Given the description of an element on the screen output the (x, y) to click on. 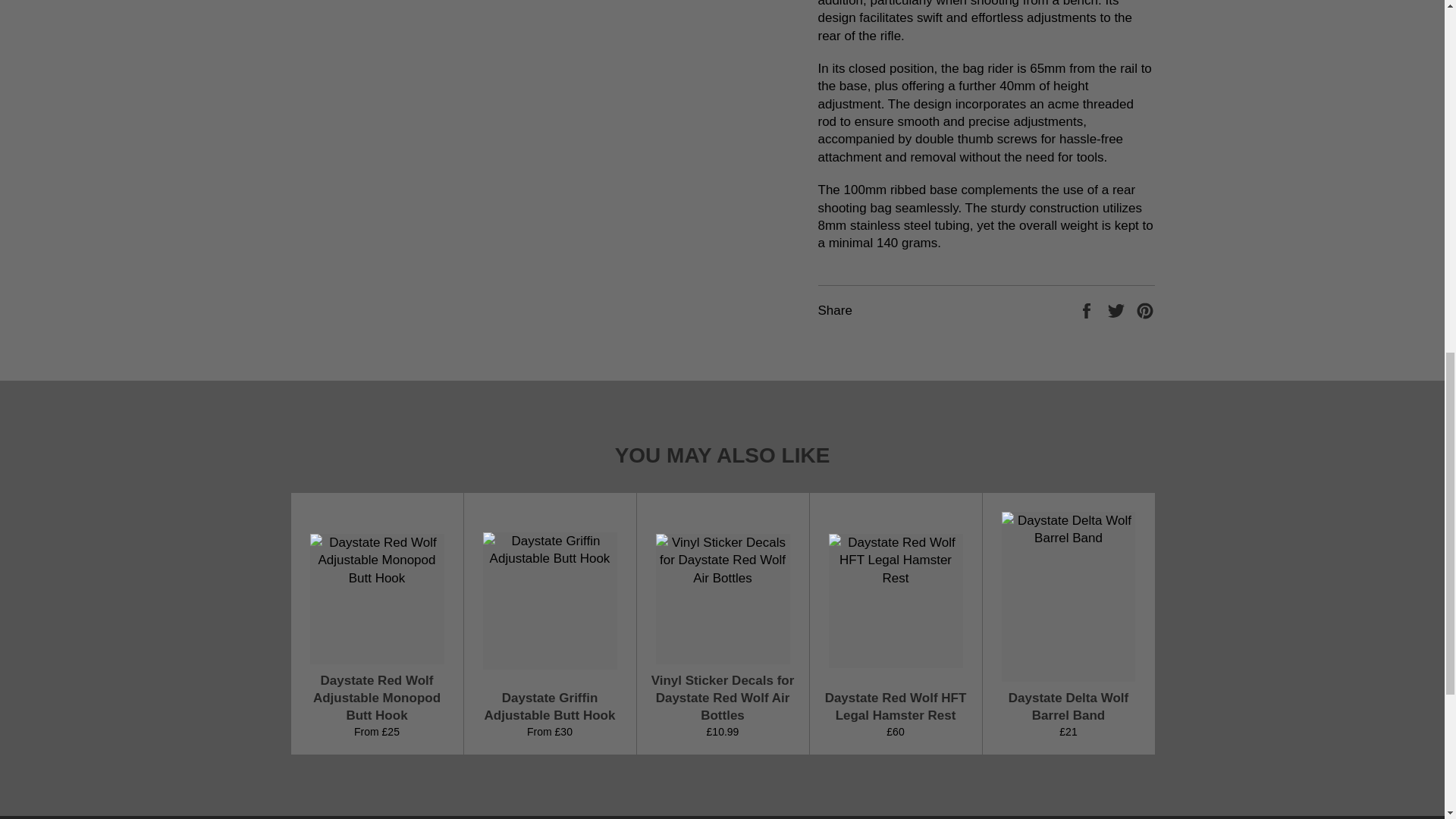
Share on Facebook (1088, 309)
Pin on Pinterest (1144, 309)
Tweet on Twitter (1117, 309)
